Given the description of an element on the screen output the (x, y) to click on. 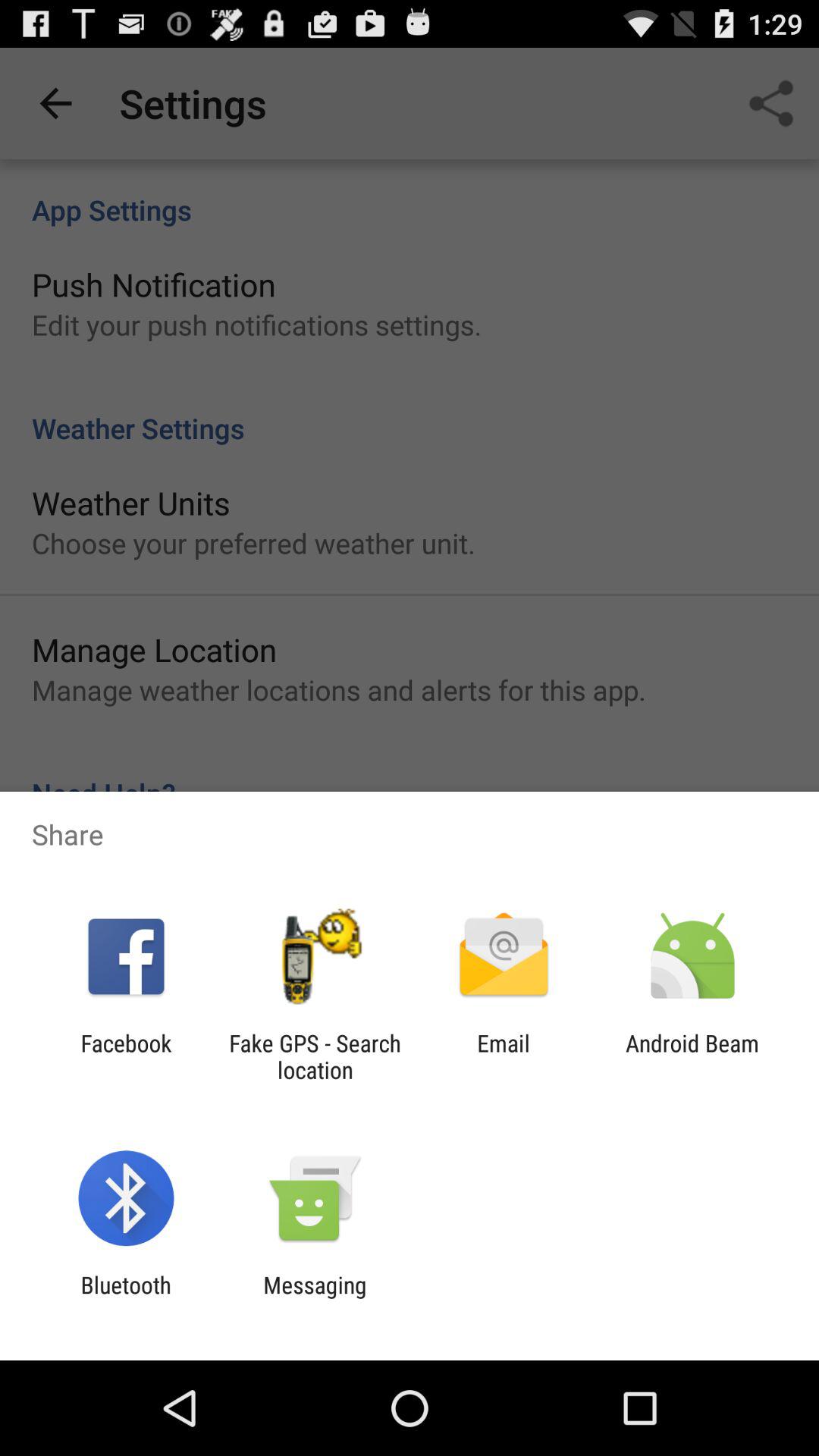
flip until the bluetooth item (125, 1298)
